Given the description of an element on the screen output the (x, y) to click on. 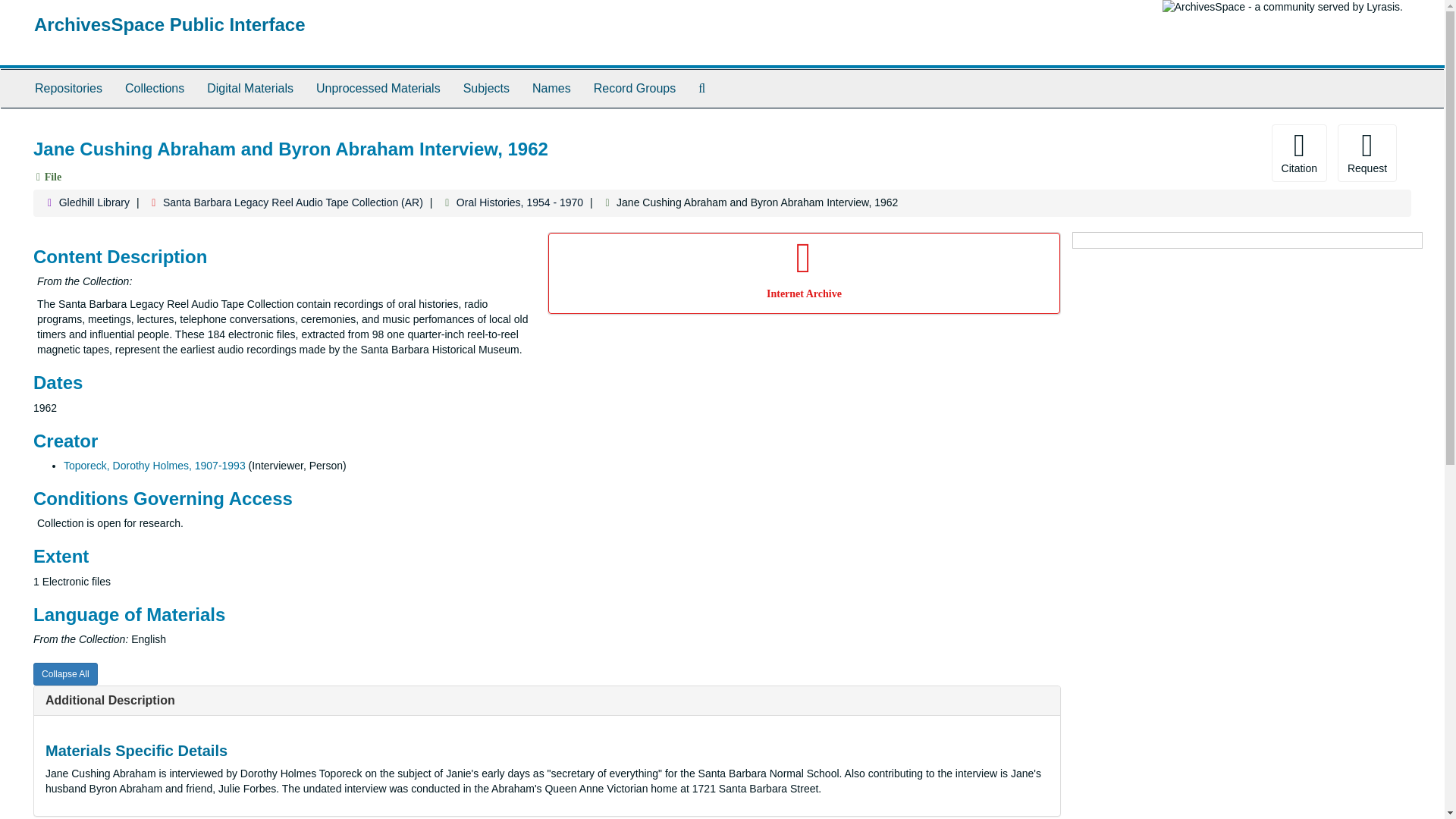
Citation (1298, 152)
Return to the ArchivesSpace homepage (169, 24)
Oral Histories, 1954 - 1970 (520, 202)
Subjects (486, 88)
Unprocessed Materials (377, 88)
Gledhill Library (94, 202)
ArchivesSpace Public Interface (169, 24)
Request (1367, 152)
Names (551, 88)
Toporeck, Dorothy Holmes, 1907-1993 (155, 465)
